Given the description of an element on the screen output the (x, y) to click on. 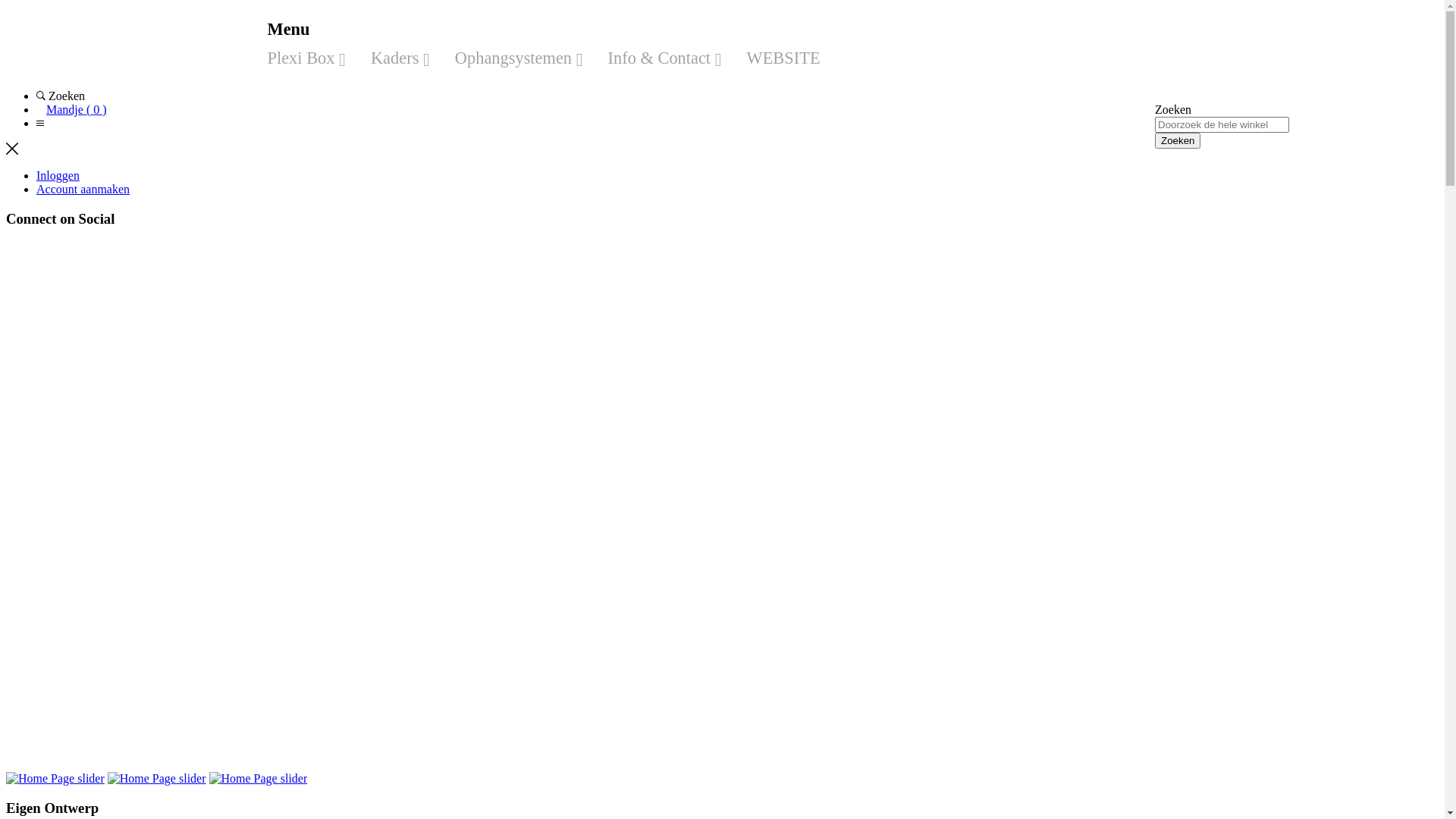
Kaders Element type: text (393, 58)
Ophangsystemen Element type: text (512, 58)
#htmlcaption2 Element type: hover (258, 778)
Home Page slider Element type: hover (55, 777)
Home Page slider Element type: hover (156, 777)
WEBSITE Element type: text (782, 58)
Plexi Box Element type: text (305, 58)
Home Page slider Element type: hover (258, 777)
Account aanmaken Element type: text (82, 188)
#htmlcaption1 Element type: hover (156, 778)
#htmlcaption3 Element type: hover (55, 778)
Inloggen Element type: text (57, 175)
Zoeken Element type: text (1177, 140)
Mandje ( 0 ) Element type: text (76, 109)
Info & Contact Element type: text (658, 58)
